Given the description of an element on the screen output the (x, y) to click on. 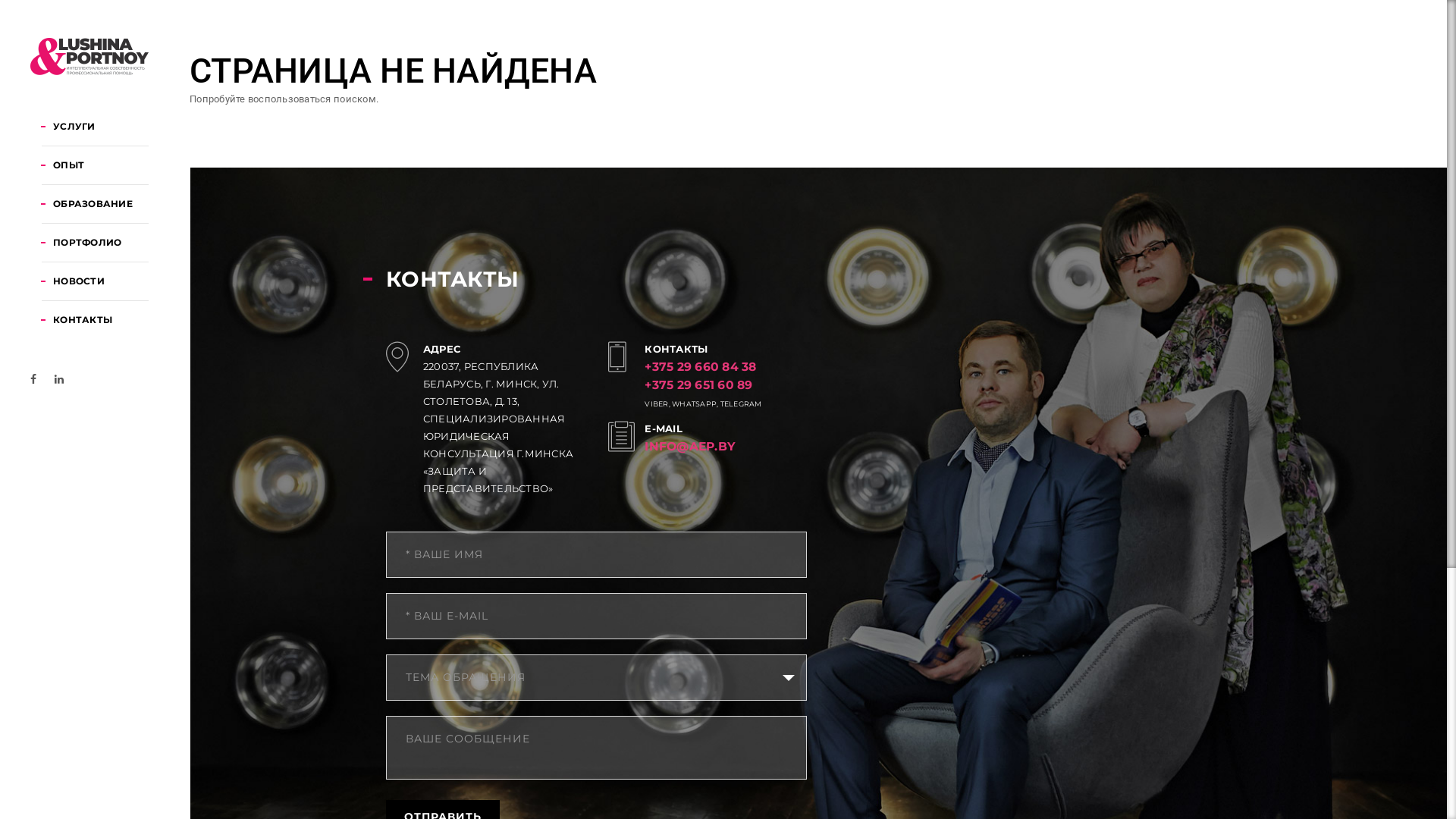
INFO@AEP.BY Element type: text (689, 446)
+375 29 651 60 89 Element type: text (698, 384)
+375 29 660 84 38 Element type: text (700, 366)
